Given the description of an element on the screen output the (x, y) to click on. 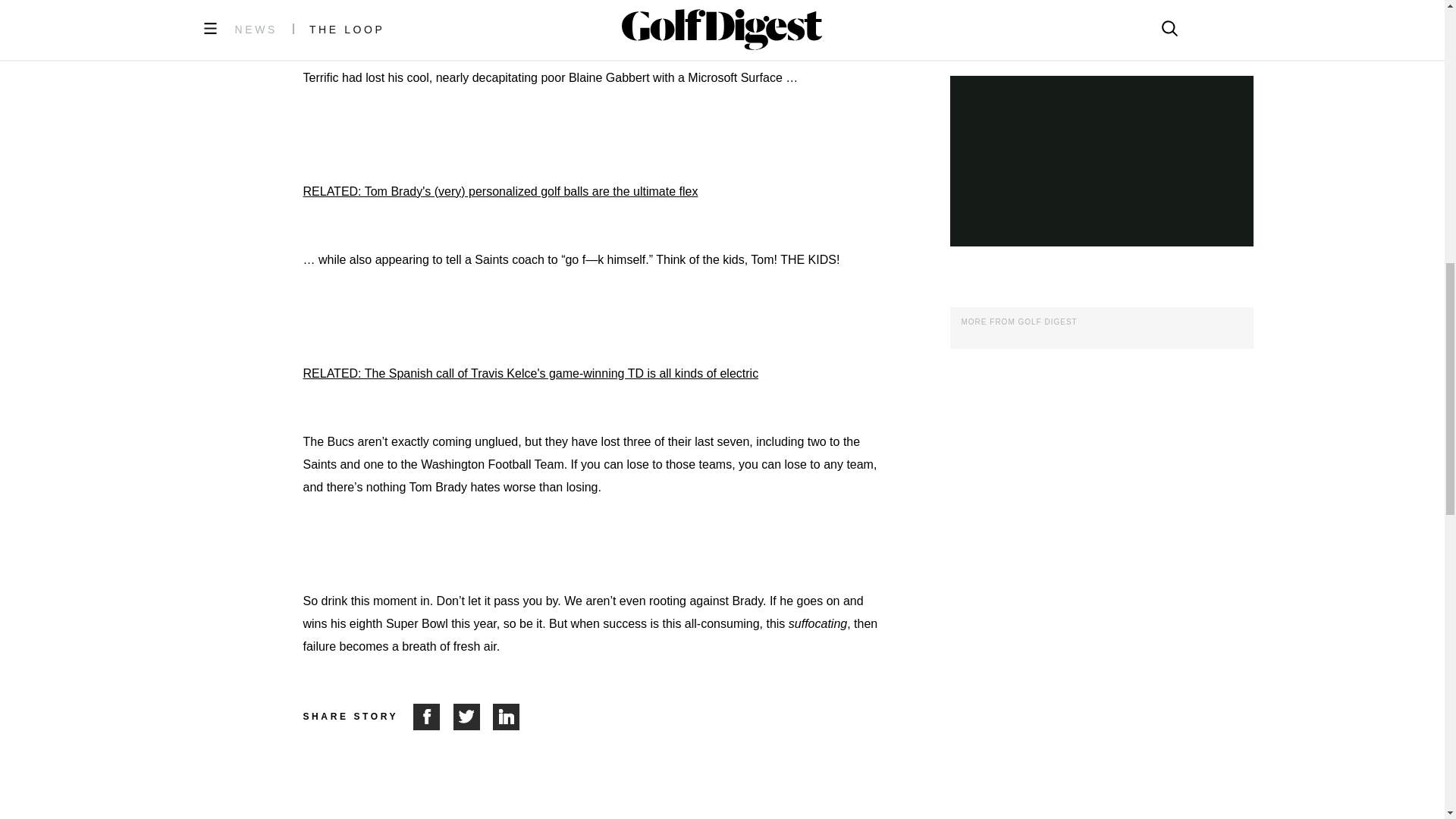
Share on Twitter (472, 716)
Share on LinkedIn (506, 716)
Share on Facebook (432, 716)
